Given the description of an element on the screen output the (x, y) to click on. 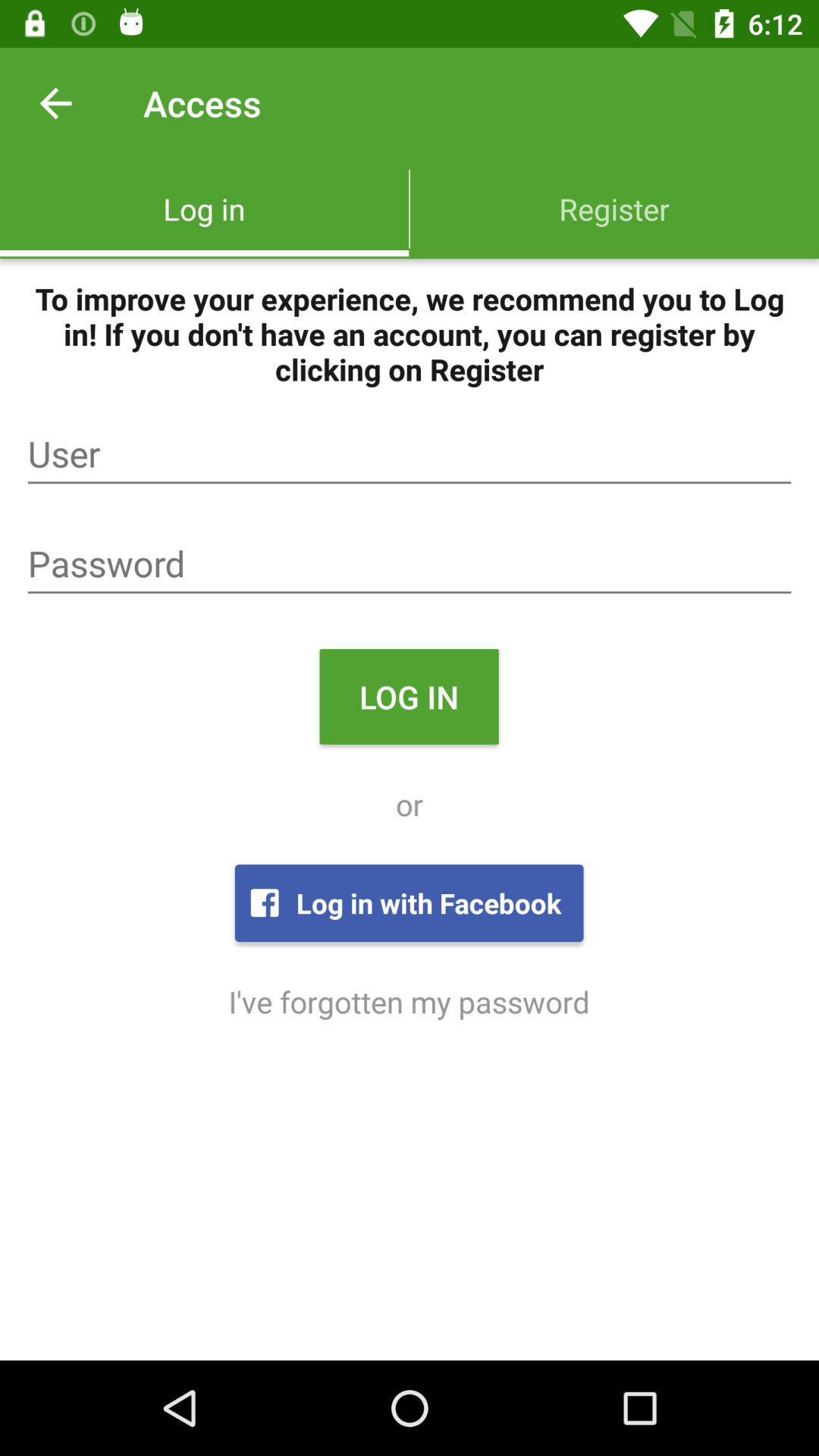
open the item below to improve your item (409, 454)
